Given the description of an element on the screen output the (x, y) to click on. 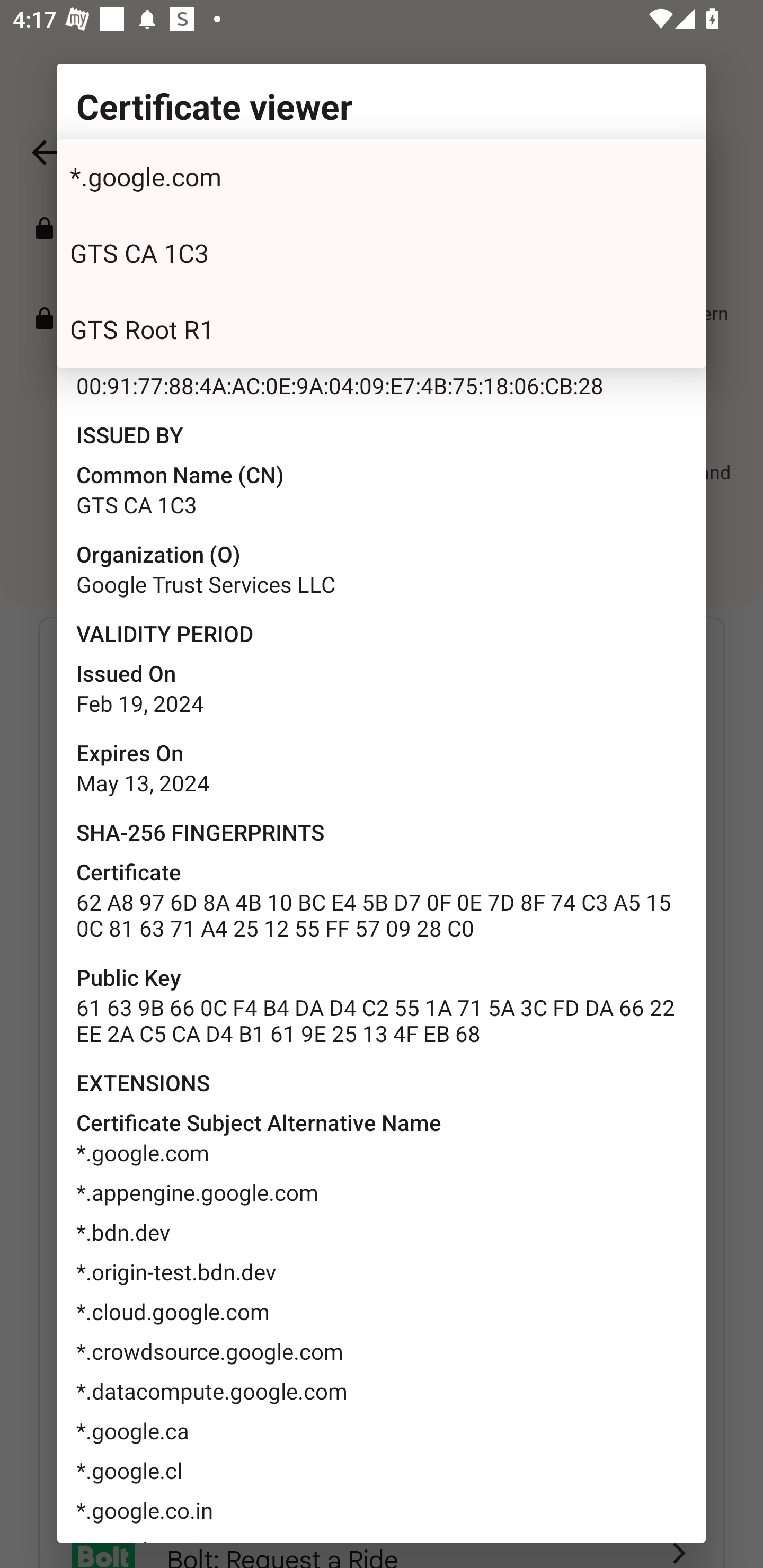
*.google.com (381, 176)
GTS CA 1C3 (381, 252)
GTS Root R1 (381, 328)
